Given the description of an element on the screen output the (x, y) to click on. 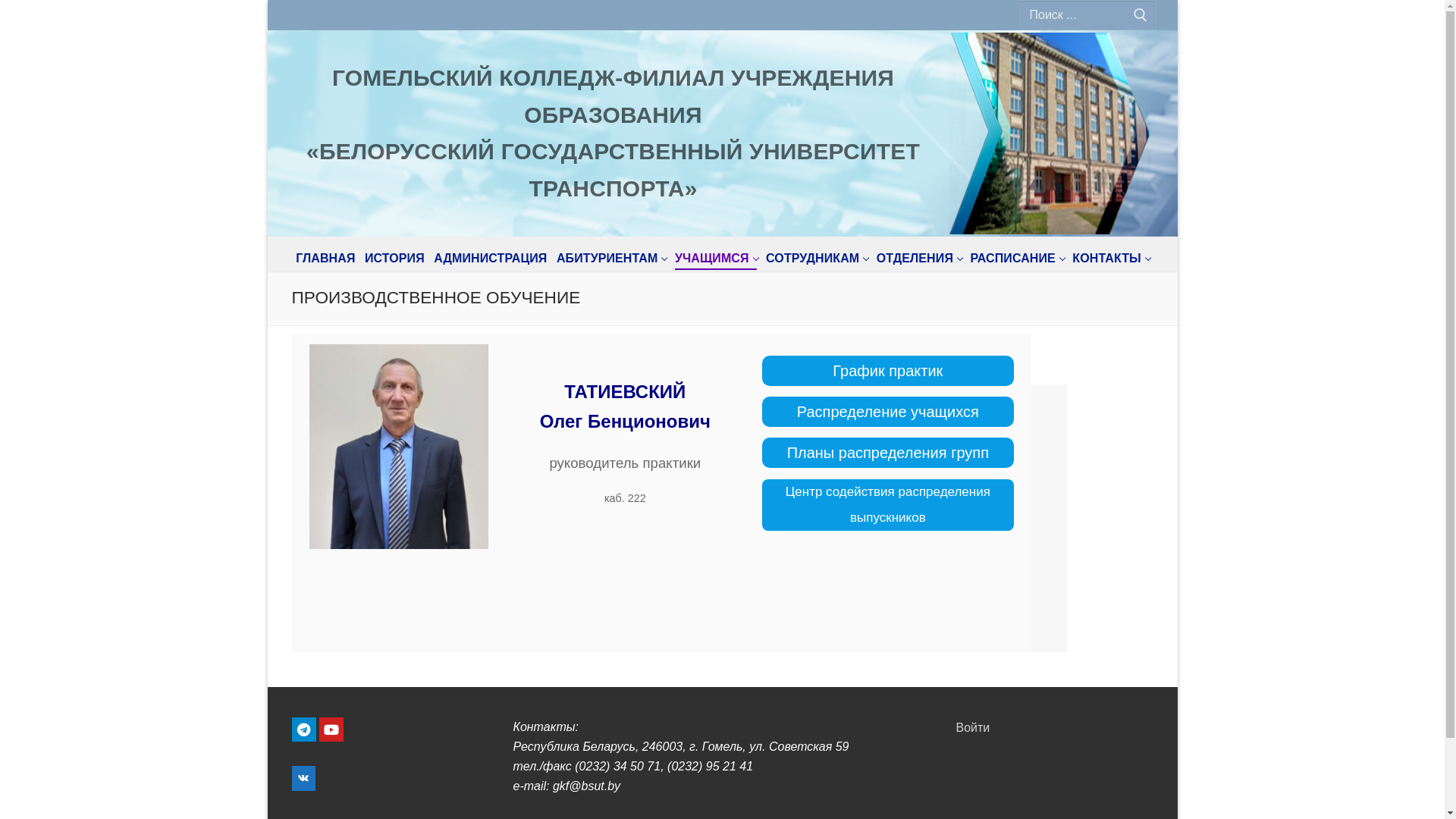
YouTube Element type: hover (331, 729)
VK Element type: hover (303, 777)
Telegram Element type: hover (303, 729)
